Given the description of an element on the screen output the (x, y) to click on. 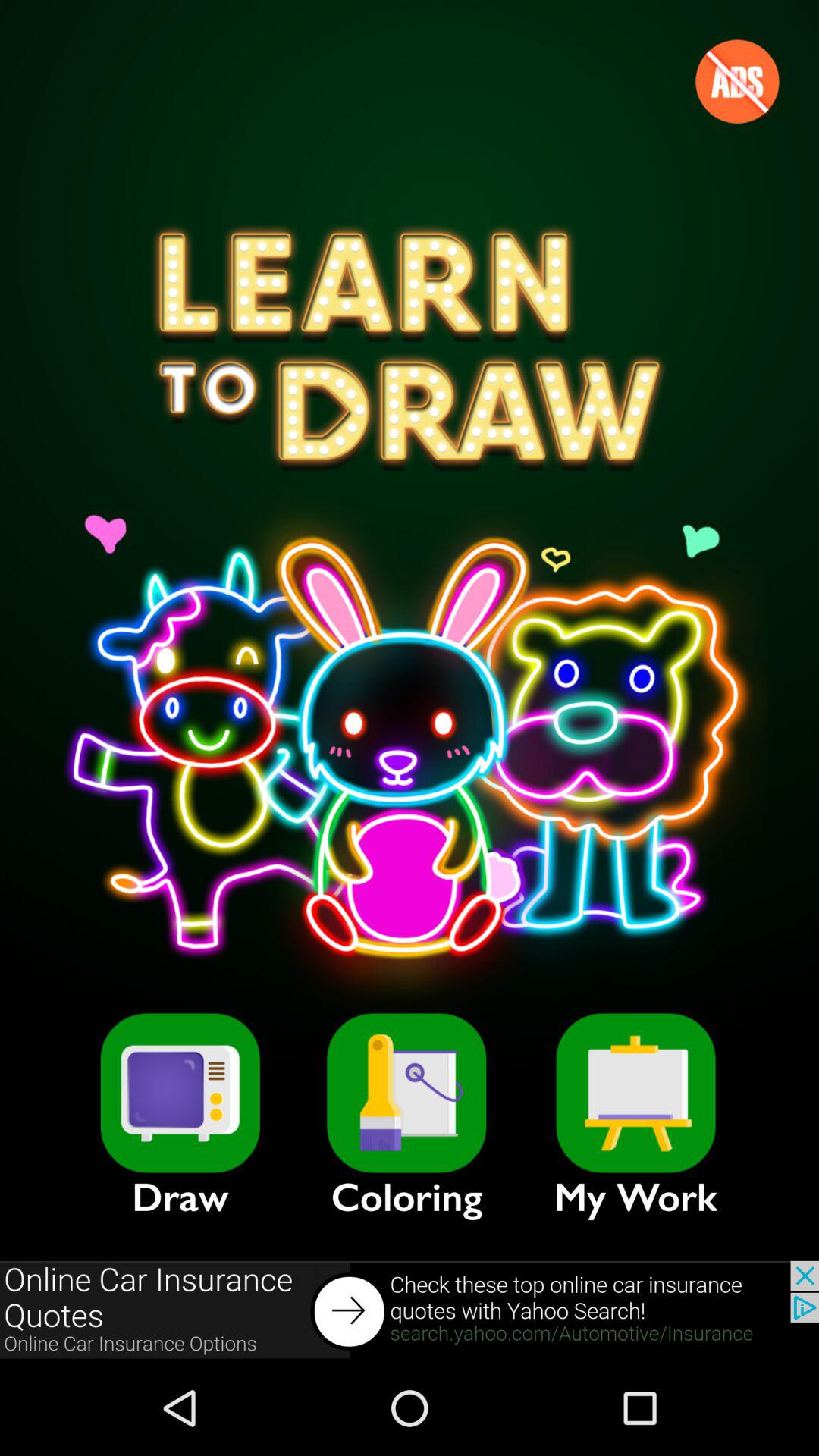
choose the item at the top right corner (737, 81)
